Given the description of an element on the screen output the (x, y) to click on. 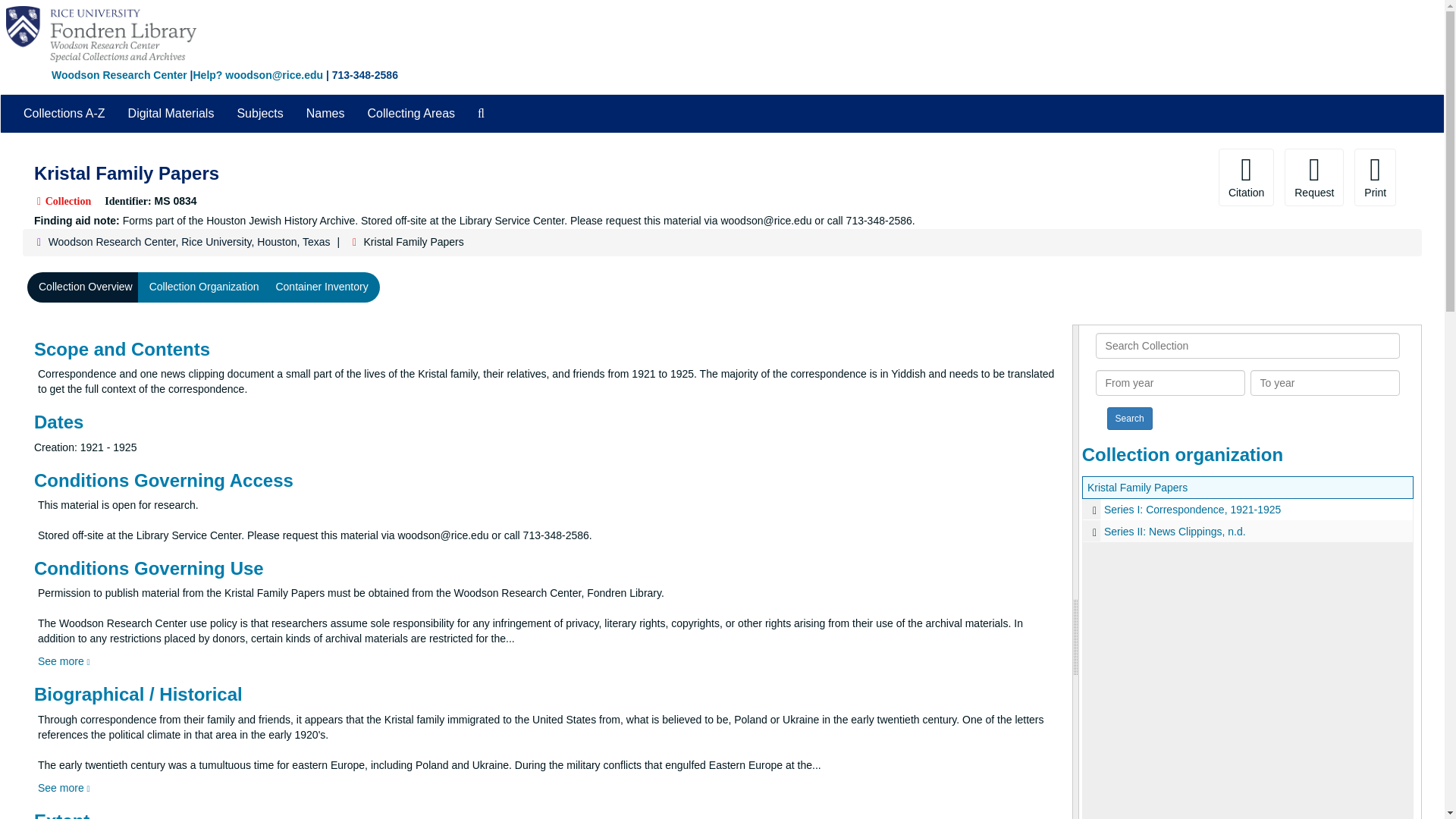
Search (1129, 418)
Collection Organization (204, 286)
See more (63, 661)
Digital Materials (170, 113)
Series I: Correspondence (1247, 508)
Names (325, 113)
Collection Overview (85, 286)
Request (1313, 177)
See more (63, 787)
Series II: News Clippings (1247, 531)
